Given the description of an element on the screen output the (x, y) to click on. 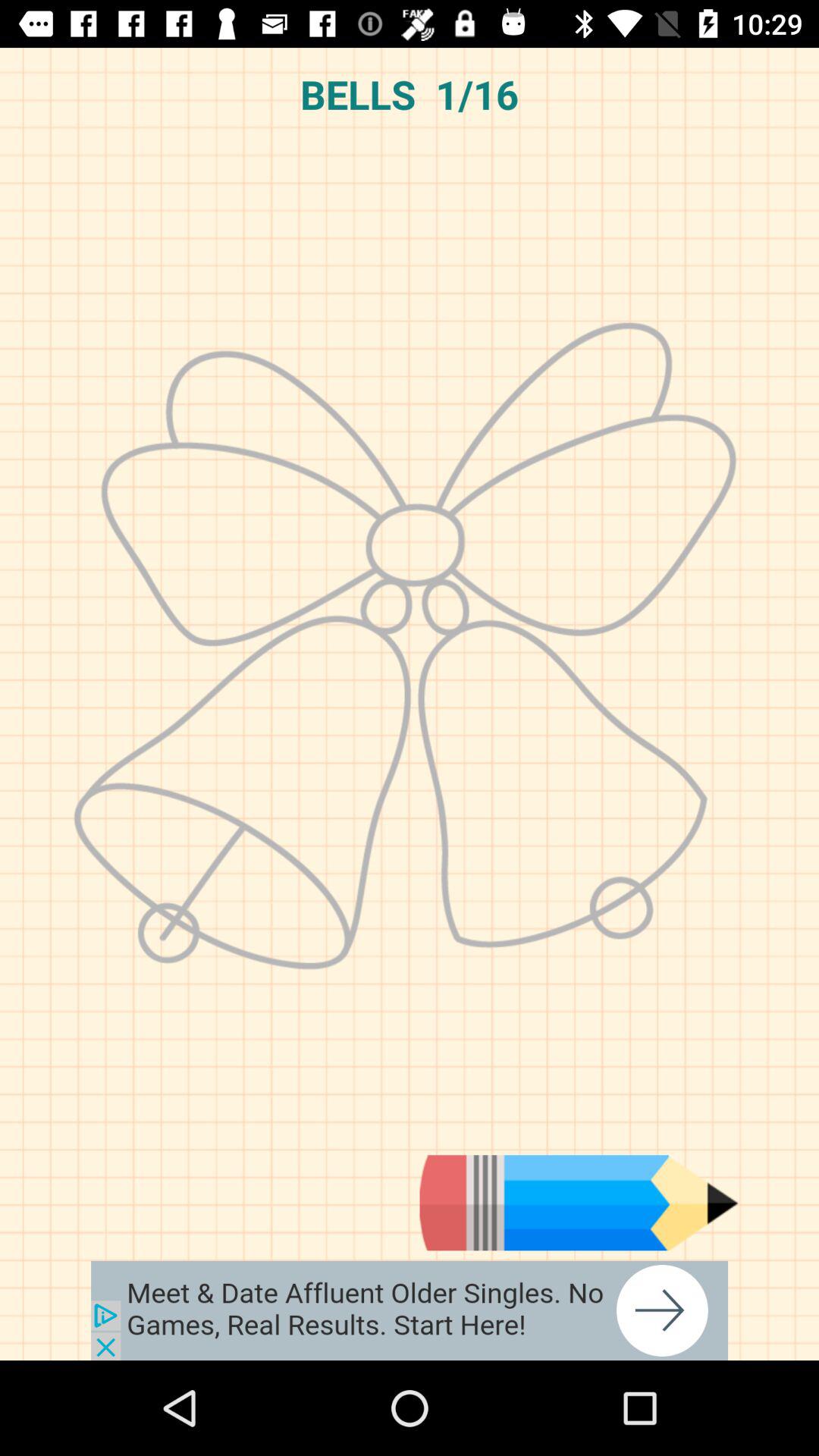
next button (409, 1310)
